Given the description of an element on the screen output the (x, y) to click on. 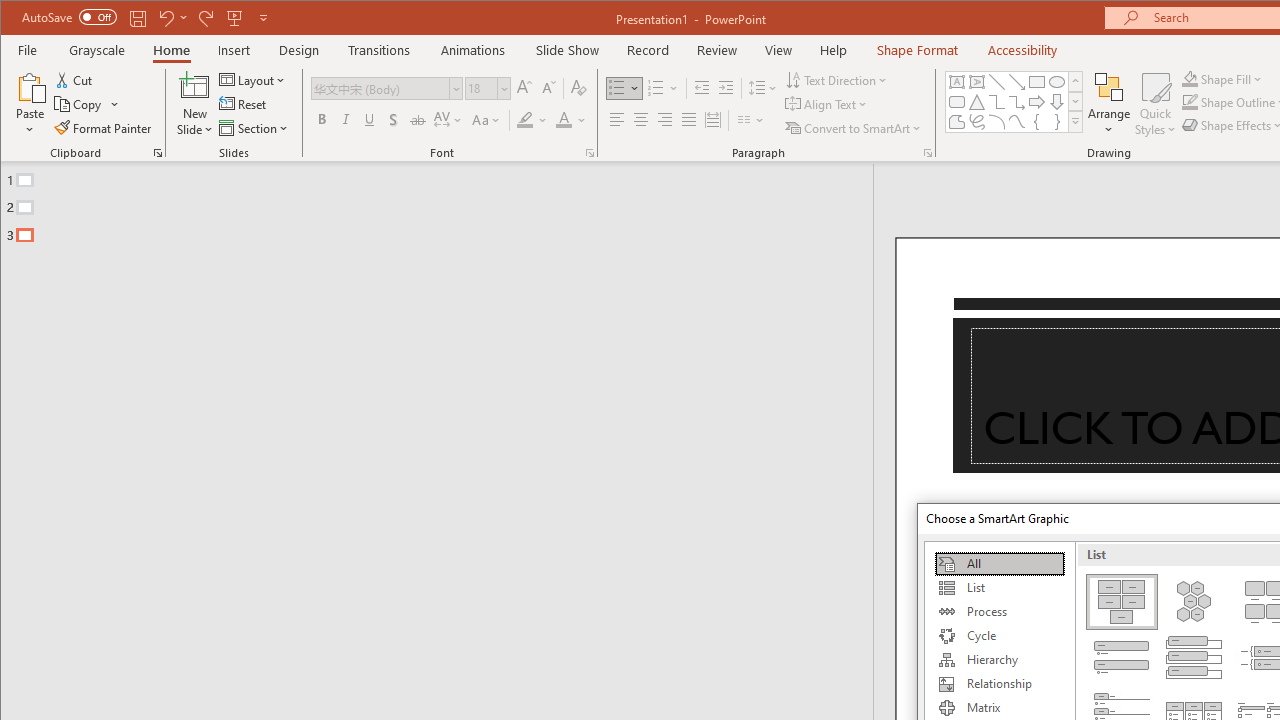
Outline (445, 203)
Vertical Box List (1194, 658)
